Given the description of an element on the screen output the (x, y) to click on. 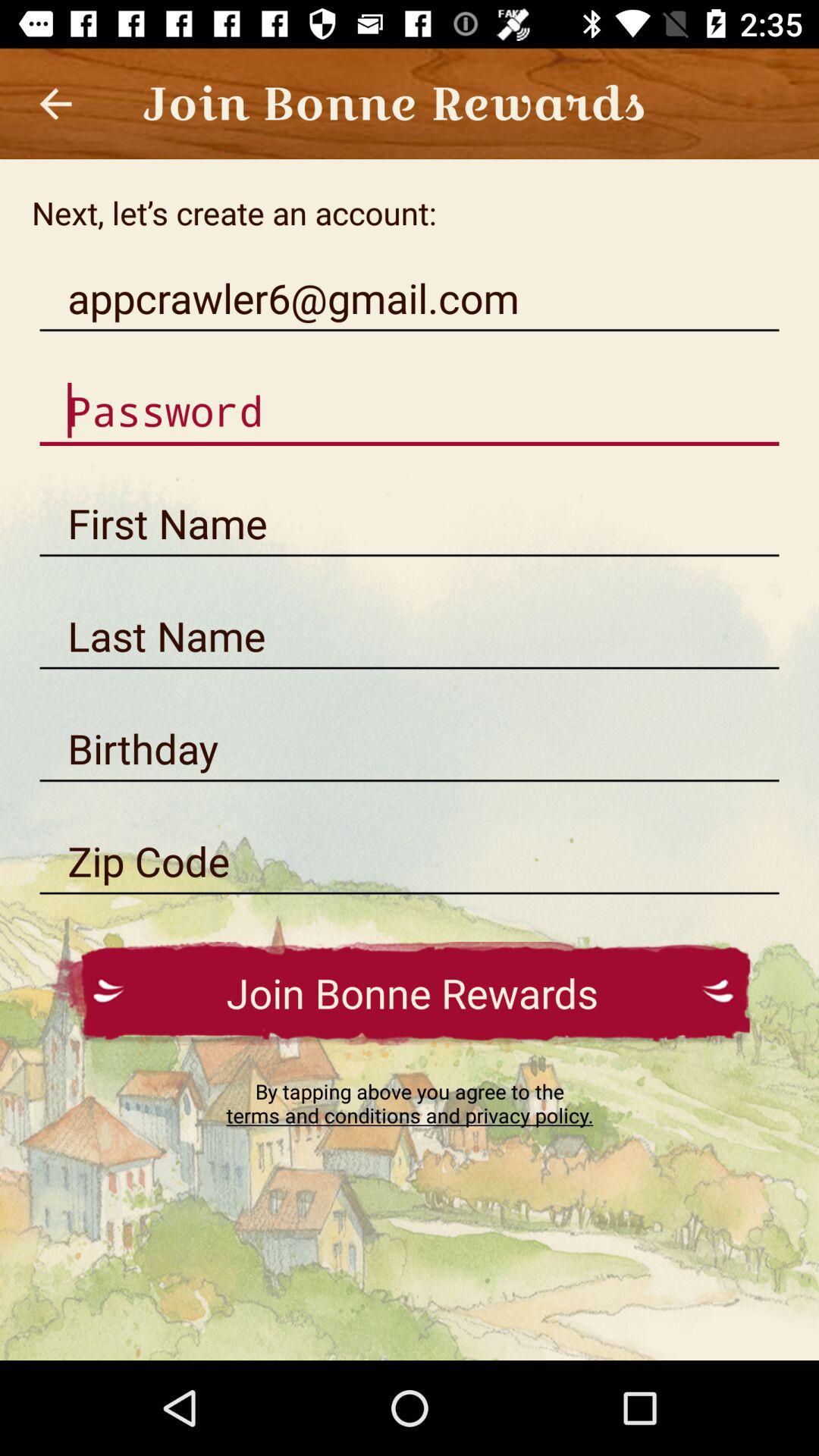
enter zip code (409, 861)
